Given the description of an element on the screen output the (x, y) to click on. 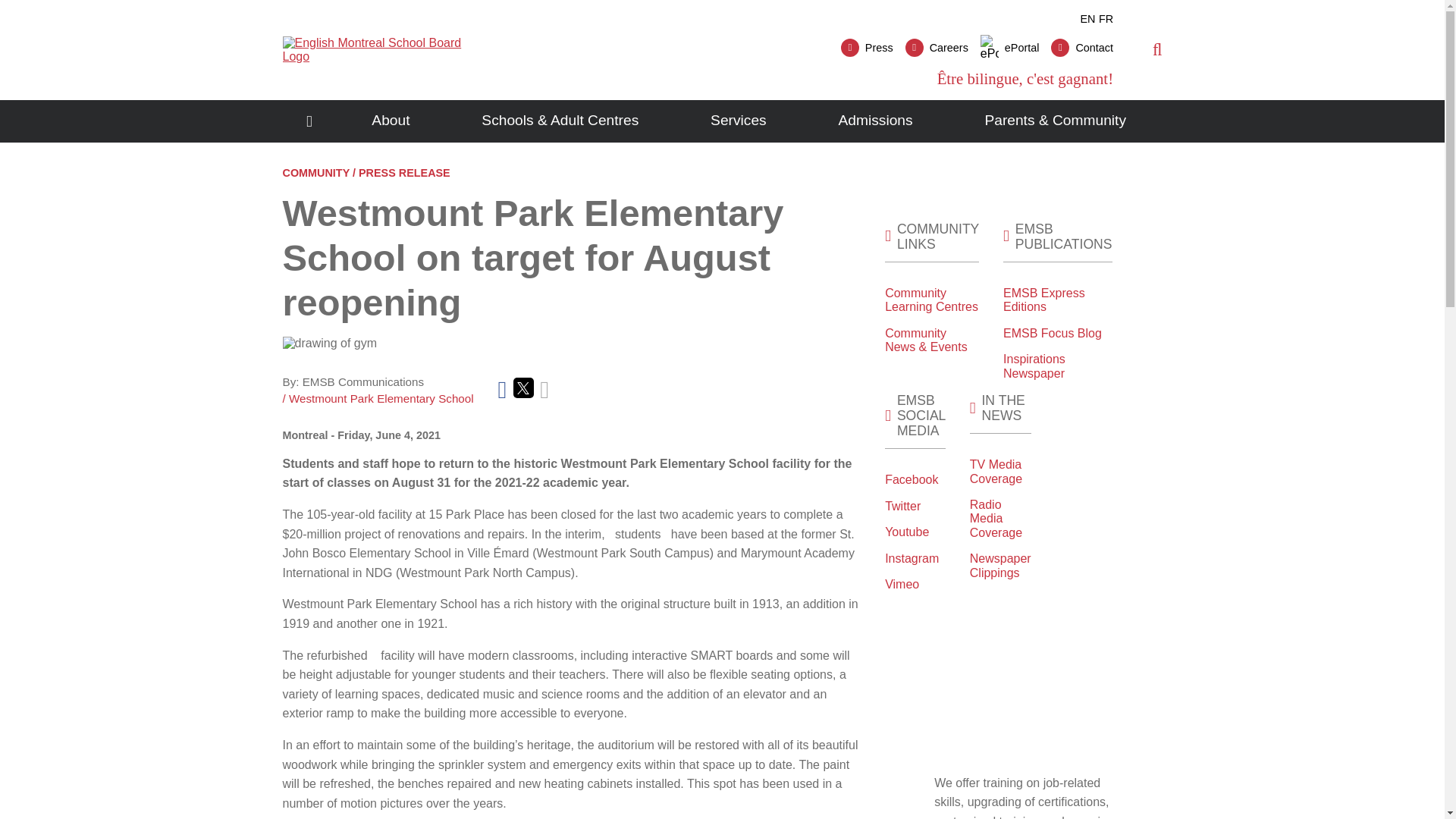
About (390, 120)
staff portal, employee services, student portal, eportal (1009, 47)
get in touch (1082, 47)
Contact (1082, 47)
Info for media and journalists (867, 47)
FR (1106, 19)
Press (867, 47)
EN (1087, 19)
Search (1122, 104)
Careers (936, 47)
